Given the description of an element on the screen output the (x, y) to click on. 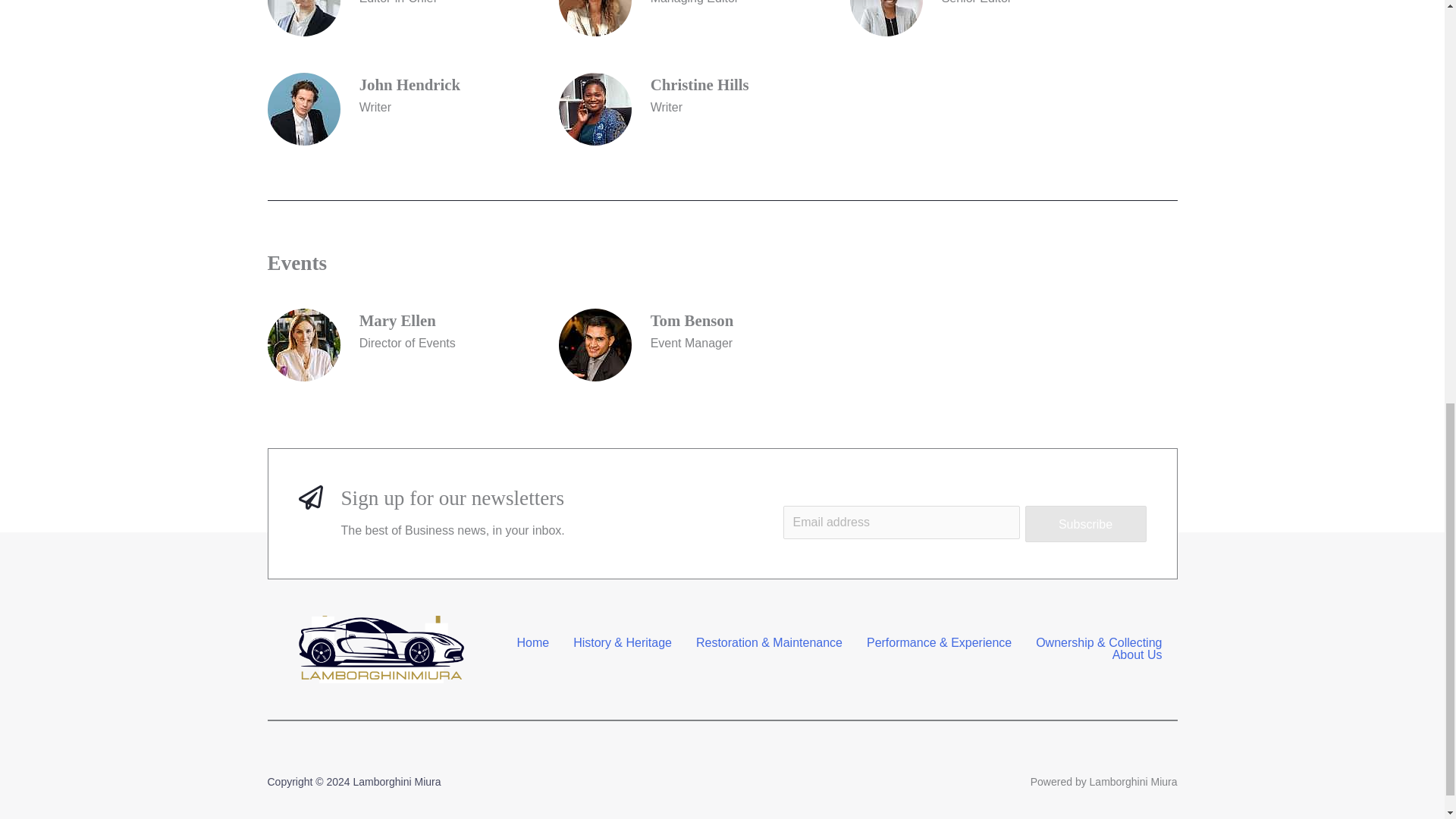
About Us (1137, 654)
Home (531, 643)
Subscribe (1086, 524)
